Given the description of an element on the screen output the (x, y) to click on. 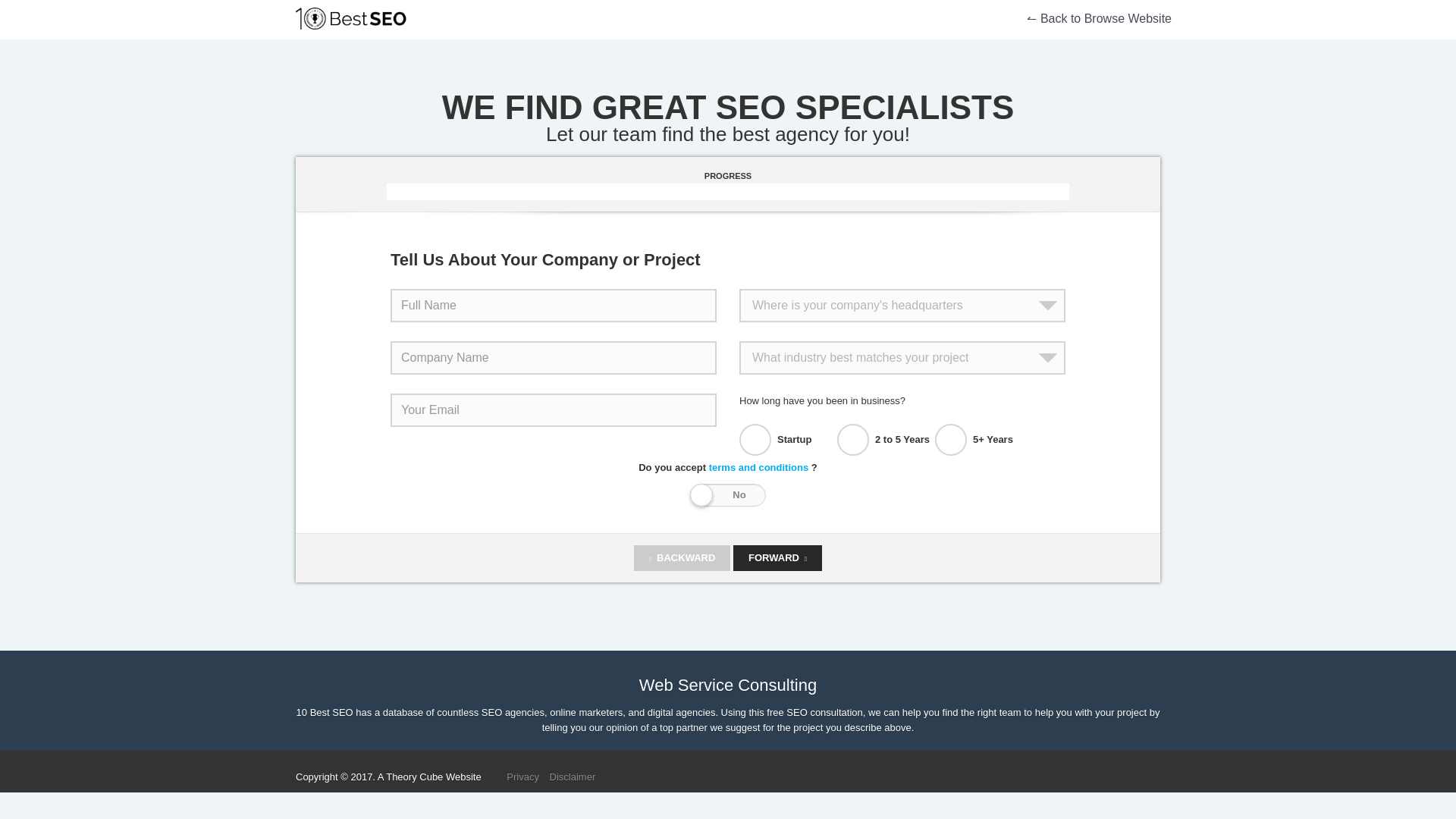
FORWARD (777, 557)
BACKWARD (681, 557)
Privacy (522, 776)
terms and conditions (758, 467)
10 Best SEO Homepage (361, 19)
Disclaimer (572, 776)
